Given the description of an element on the screen output the (x, y) to click on. 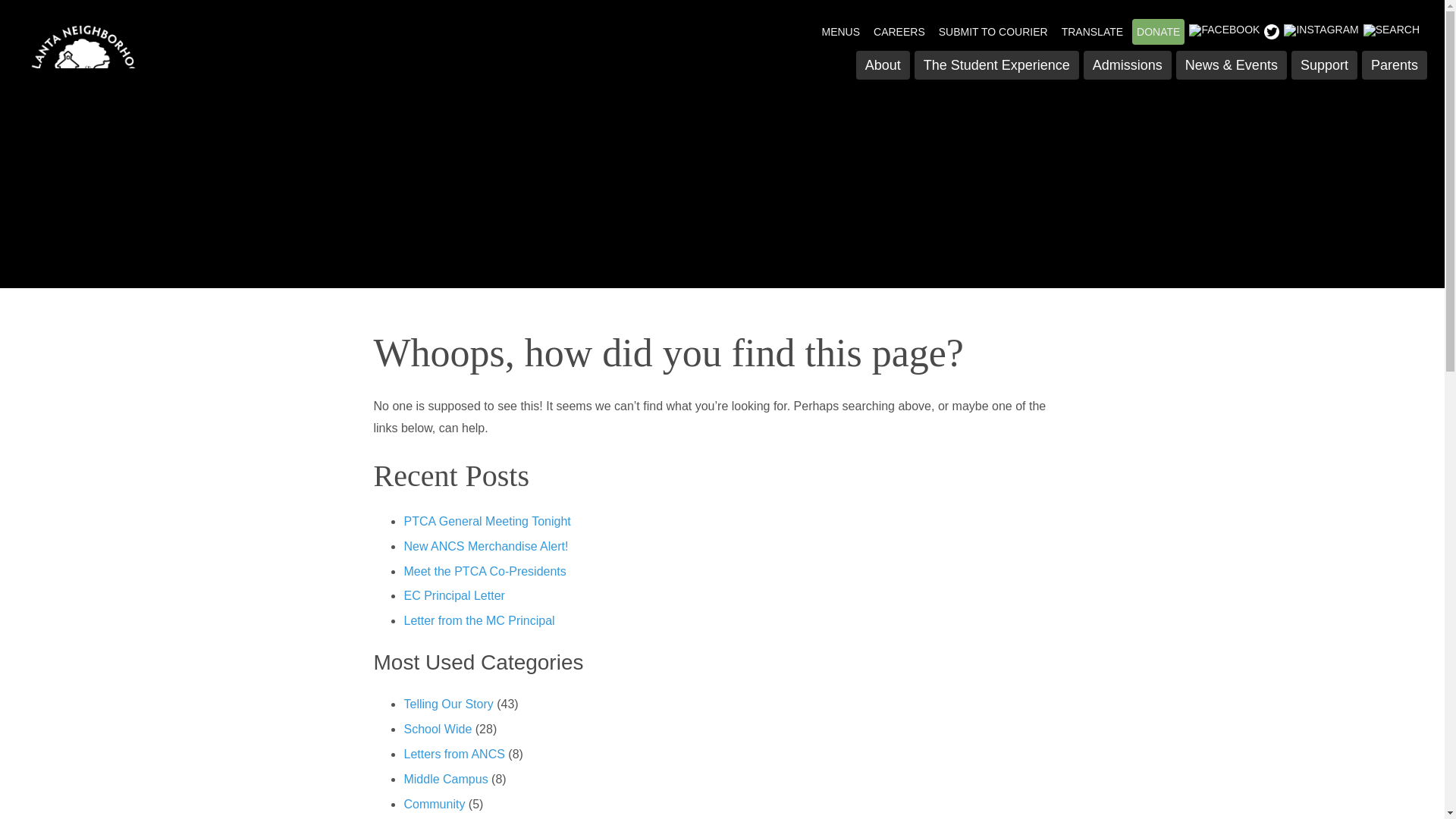
MENUS (840, 31)
About (883, 64)
SUBMIT TO COURIER (993, 31)
The Student Experience (996, 64)
Atlanta Neighborhood Charter School (126, 79)
TRANSLATE (1091, 31)
CAREERS (899, 31)
DONATE (1158, 31)
Admissions (1127, 64)
